Given the description of an element on the screen output the (x, y) to click on. 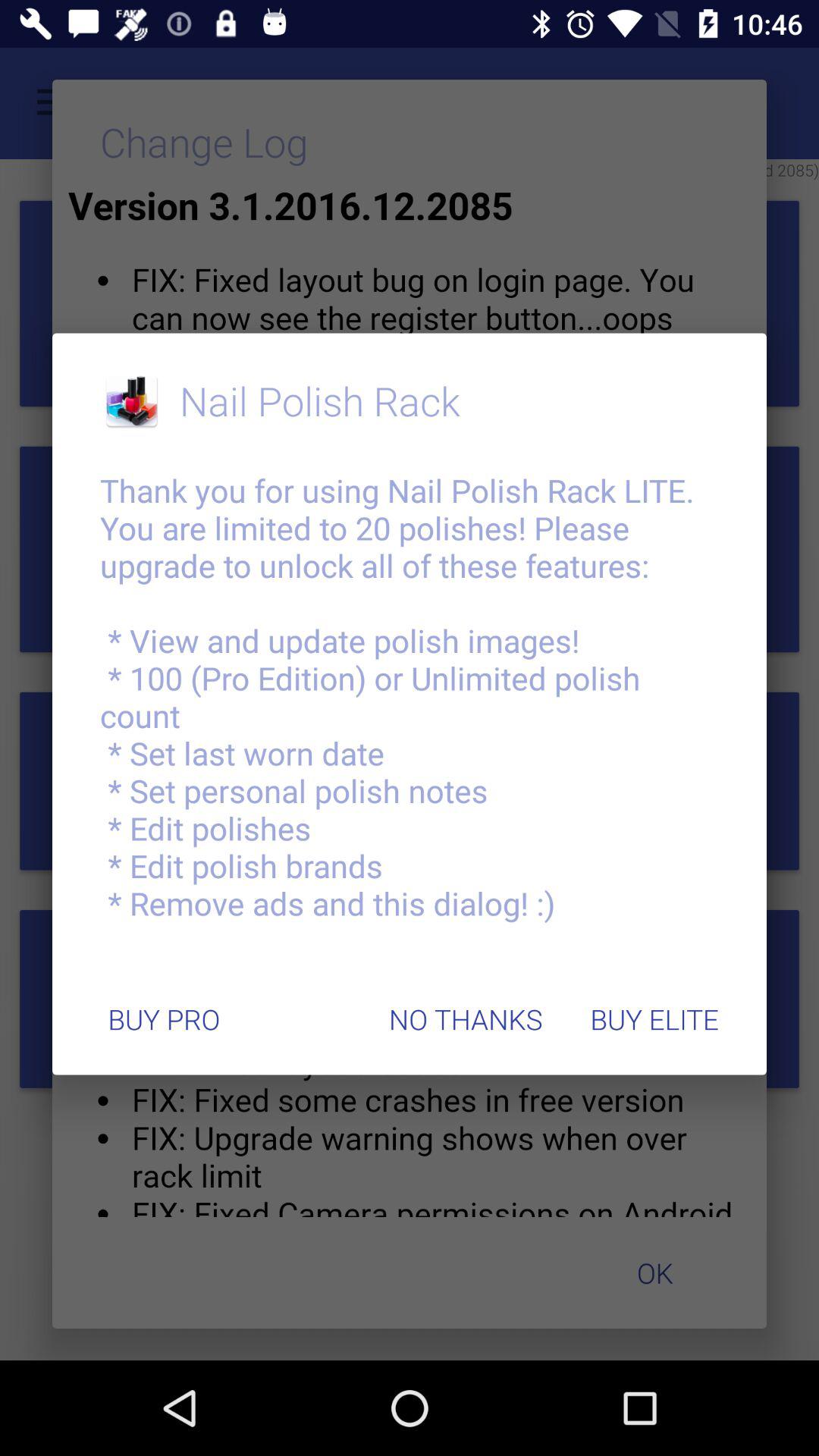
jump to the buy pro icon (163, 1018)
